Given the description of an element on the screen output the (x, y) to click on. 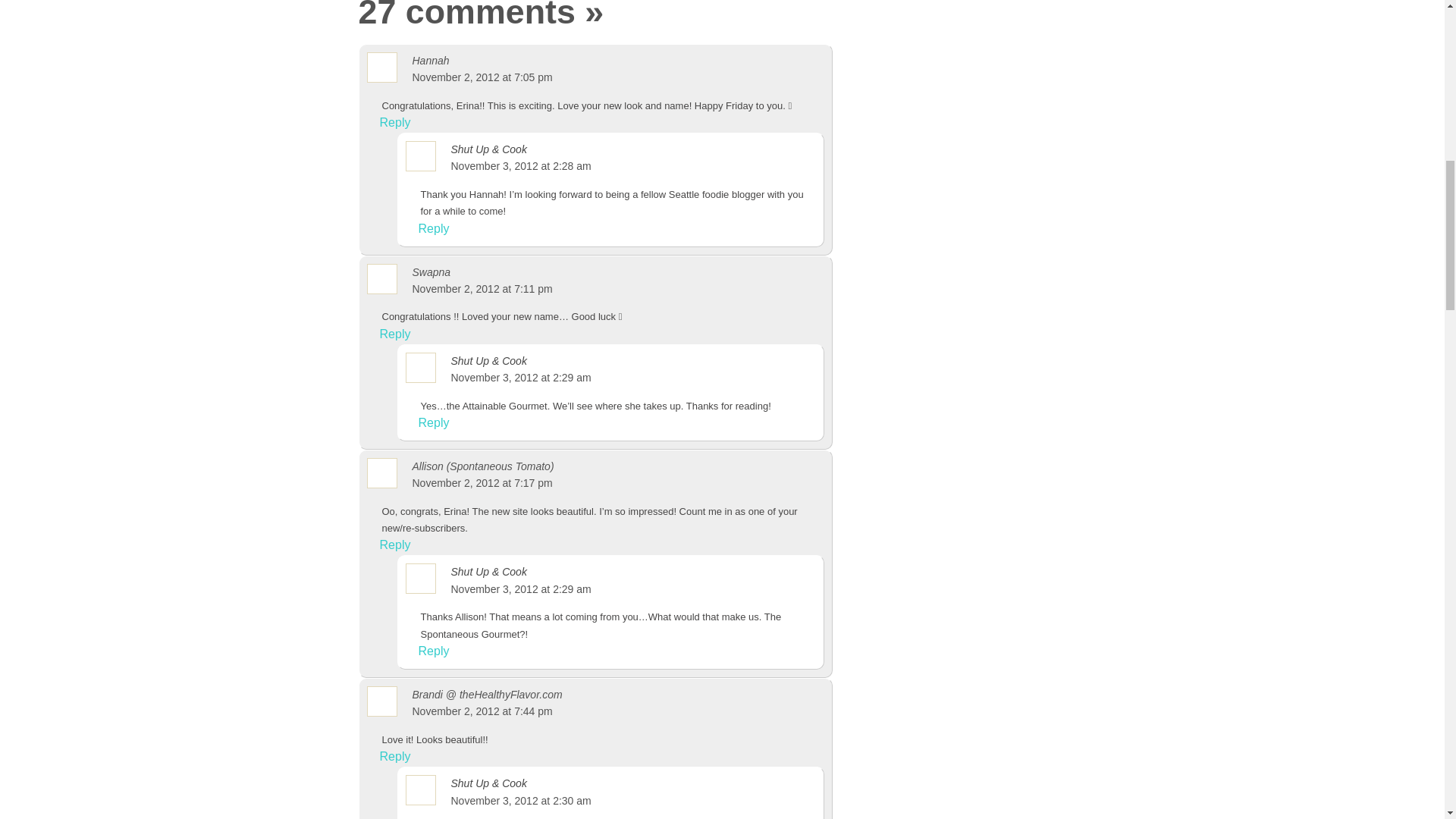
November 2, 2012 at 7:05 pm (482, 77)
November 3, 2012 at 2:29 am (520, 589)
Reply (432, 651)
Reply (432, 229)
Reply (394, 546)
Hannah (430, 60)
Swapna (431, 272)
Reply (394, 123)
November 2, 2012 at 7:17 pm (482, 482)
November 3, 2012 at 2:28 am (520, 165)
Reply (394, 334)
27 comments (466, 15)
Reply (432, 423)
November 3, 2012 at 2:29 am (520, 377)
November 2, 2012 at 7:11 pm (482, 288)
